Given the description of an element on the screen output the (x, y) to click on. 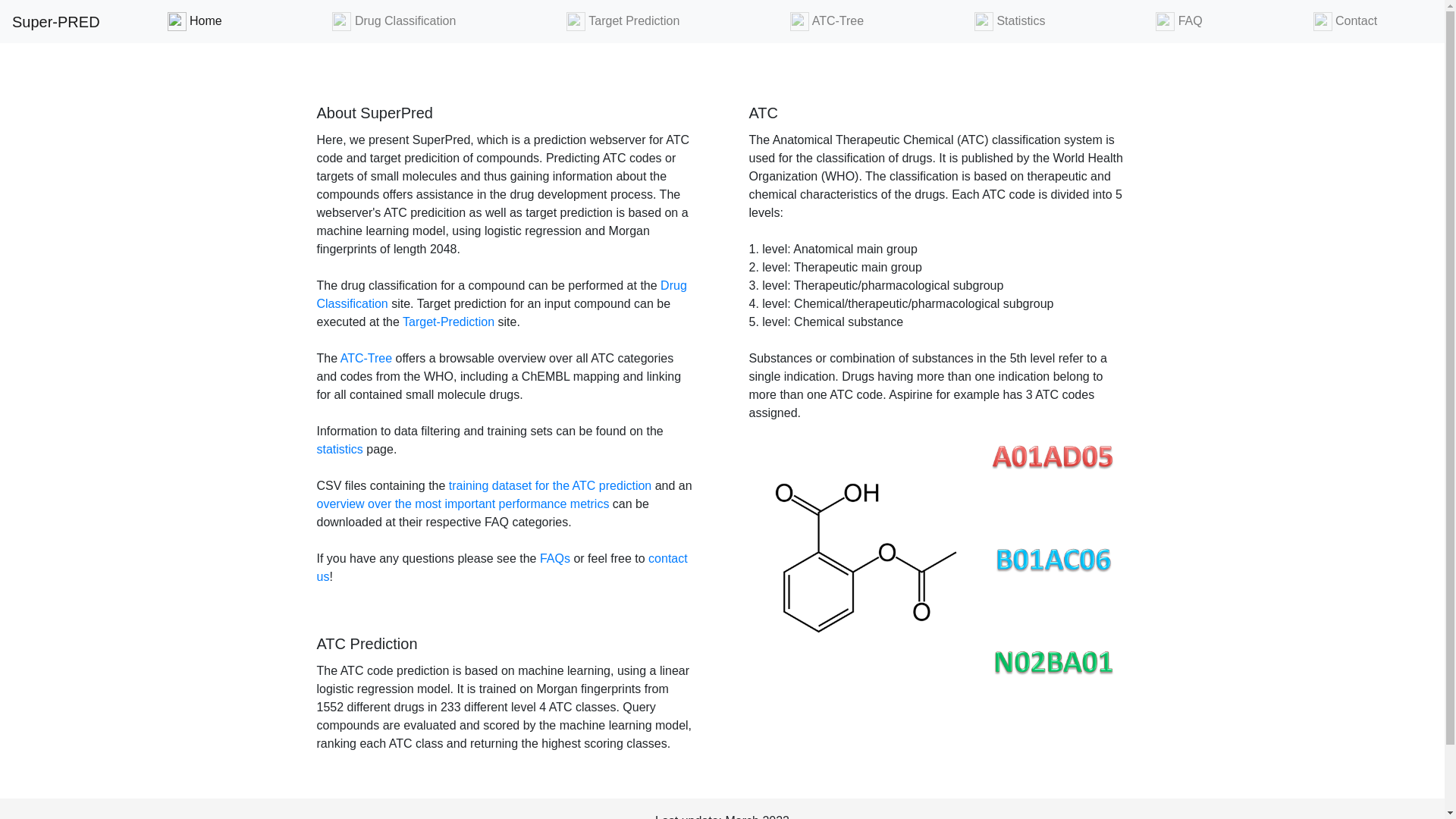
contact us (502, 567)
Statistics (1009, 20)
Target Prediction (623, 20)
FAQ (1178, 20)
statistics (339, 449)
FAQs (555, 558)
ATC-Tree (365, 358)
Contact (1344, 20)
Super-PRED (55, 20)
Home (195, 20)
